Given the description of an element on the screen output the (x, y) to click on. 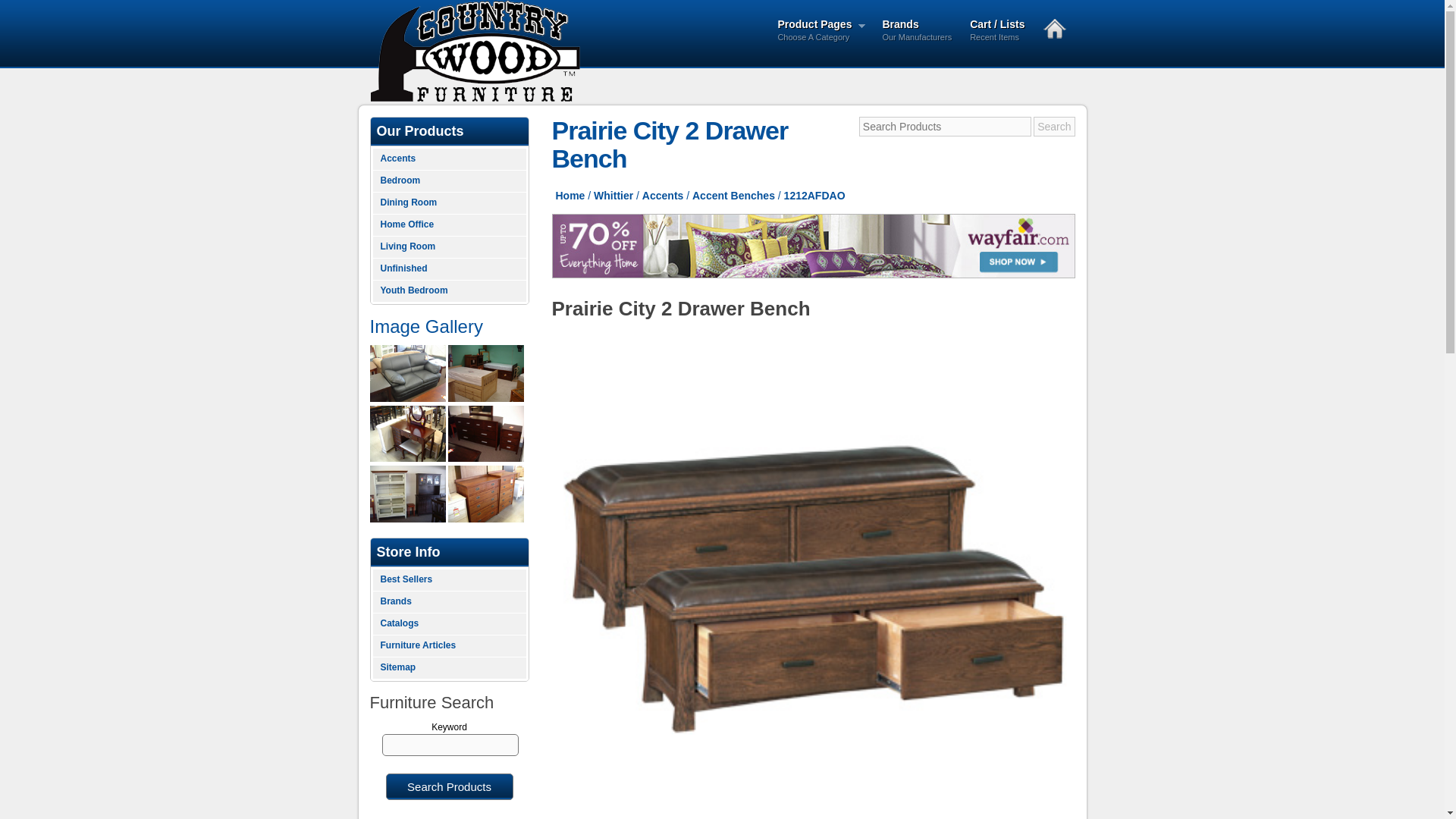
Search (1053, 126)
Vanity (820, 31)
Dining Room (407, 433)
Accent Benches (448, 203)
Whittier Prairie City 2 Drawer Bench (733, 195)
Dresser (569, 195)
Country Furniture Sale (486, 433)
Accents (813, 245)
Accents (448, 159)
Whittier (662, 195)
Unfinished (613, 195)
Living Room (448, 269)
Server (448, 247)
